Given the description of an element on the screen output the (x, y) to click on. 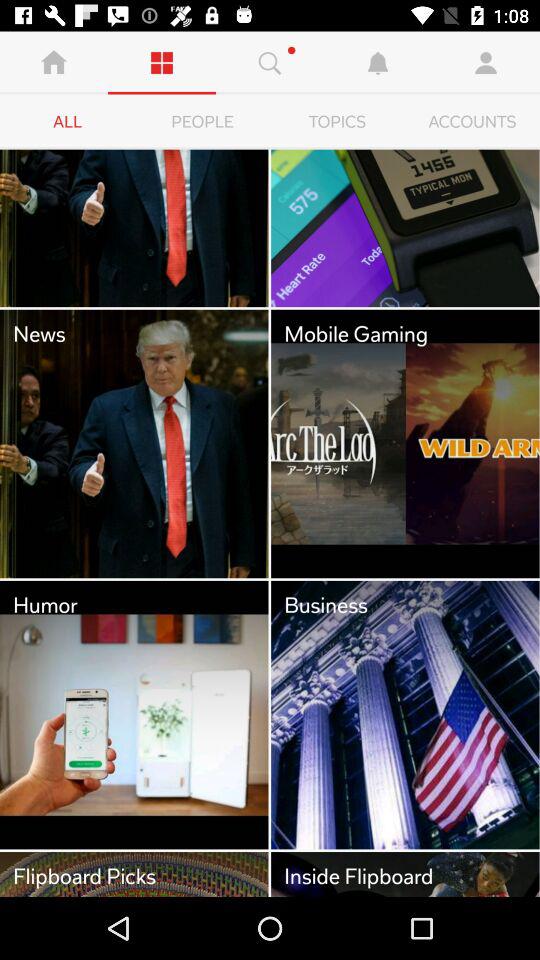
tap icon next to accounts icon (337, 121)
